Given the description of an element on the screen output the (x, y) to click on. 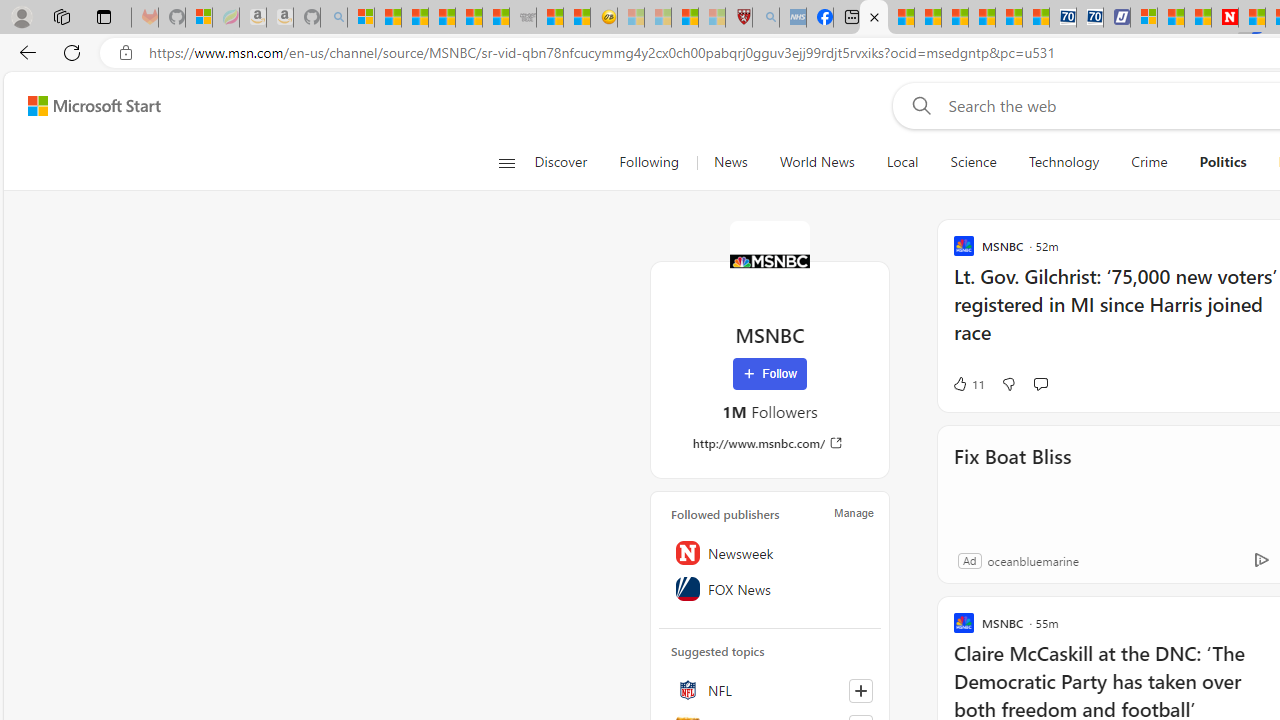
11 Like (968, 384)
FOX News (770, 588)
Fix Boat Bliss (1012, 484)
